Given the description of an element on the screen output the (x, y) to click on. 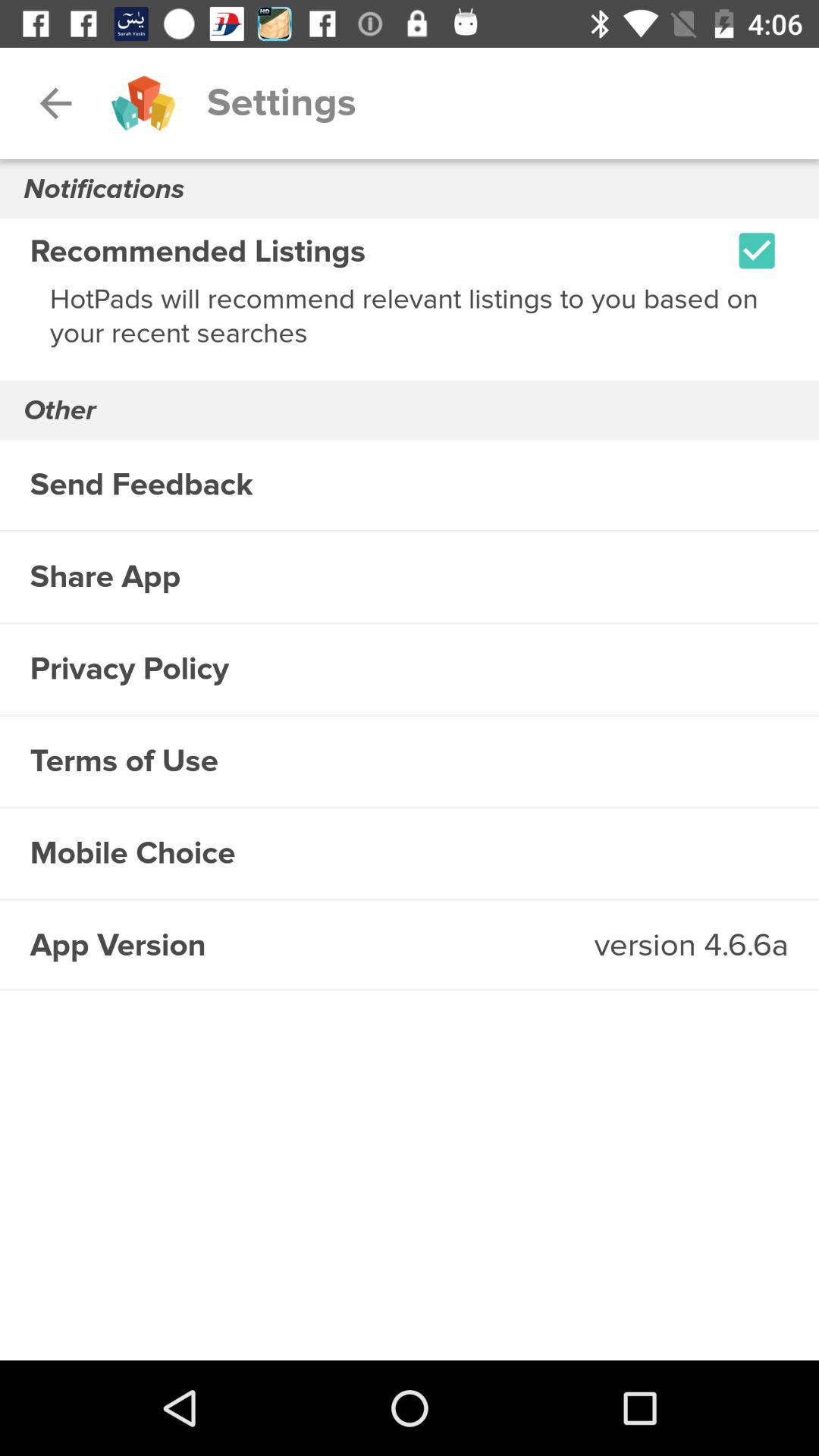
click terms of use item (409, 761)
